Given the description of an element on the screen output the (x, y) to click on. 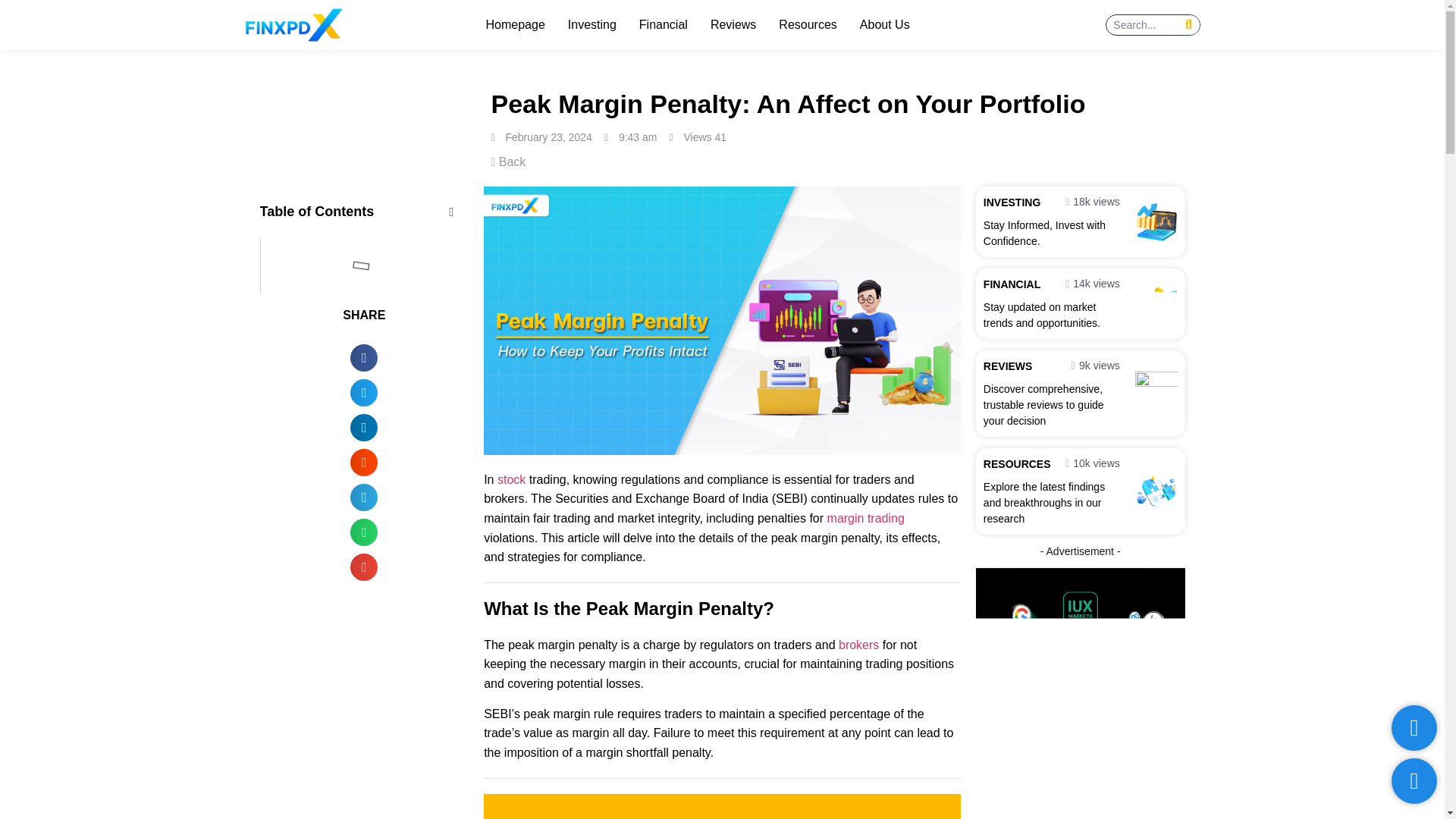
Homepage (516, 24)
About Us (884, 24)
Investing (592, 24)
Resources (807, 24)
Financial (663, 24)
Reviews (732, 24)
